Given the description of an element on the screen output the (x, y) to click on. 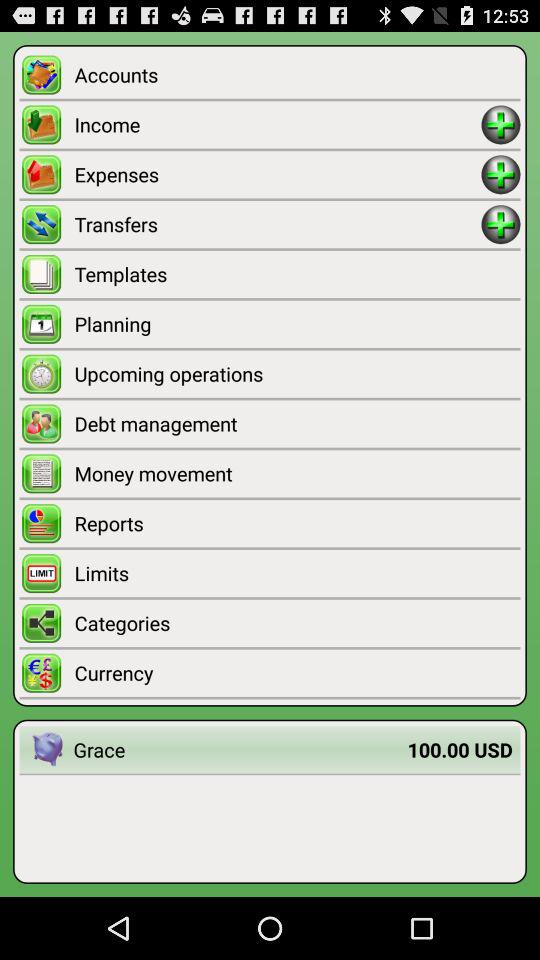
add transfers (500, 223)
